Given the description of an element on the screen output the (x, y) to click on. 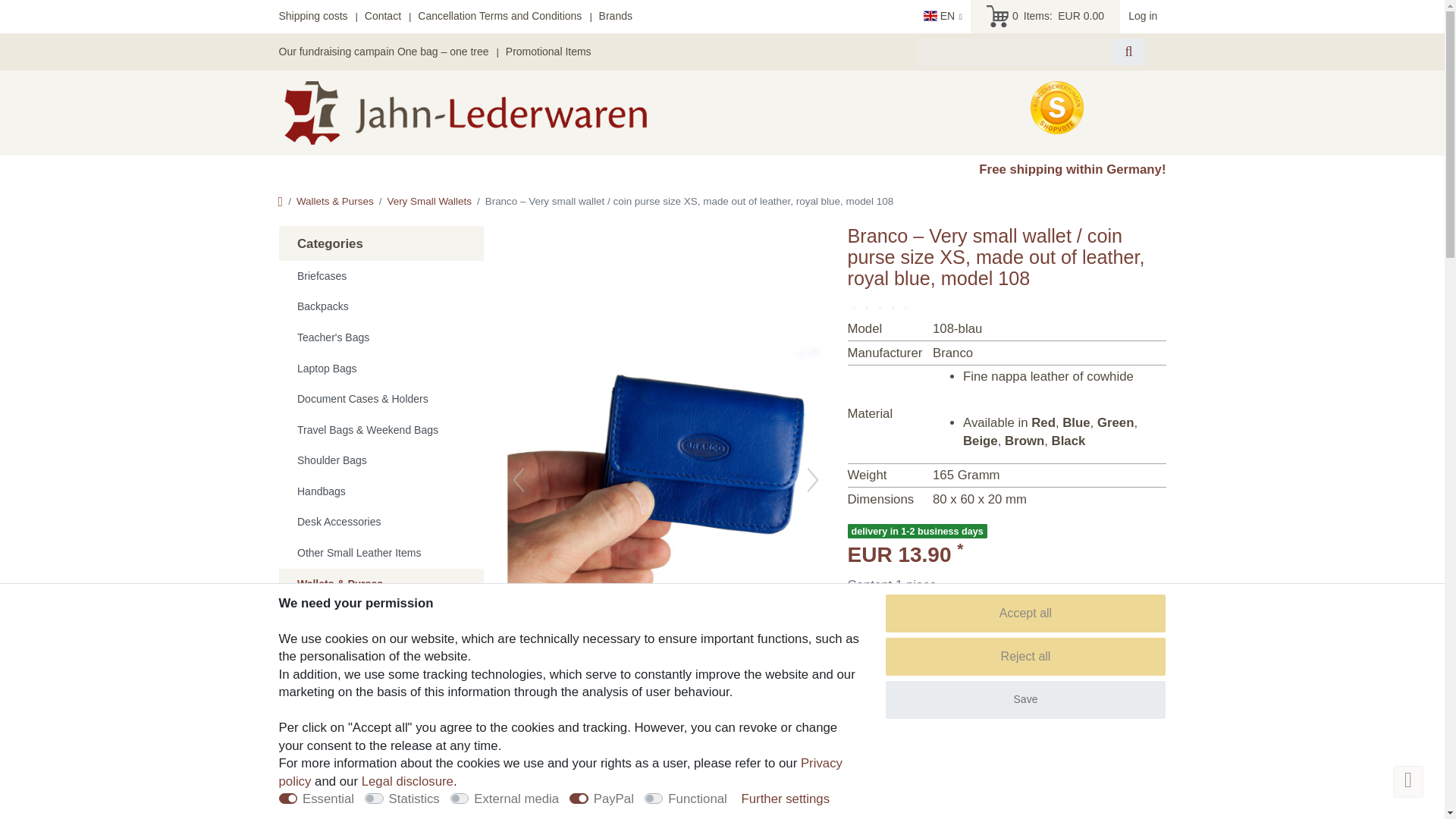
Laptop Bags (381, 368)
Contact (383, 15)
Promotional Items (548, 51)
Maximum order quantity:  (892, 638)
Very Small Wallets (381, 676)
Handbags (381, 490)
Teacher's Bags (381, 337)
Shipping (938, 611)
Shoulder Bags (381, 460)
Desk Accessories (381, 522)
Shipping costs (313, 15)
Very Small Wallets (429, 201)
Backpacks (381, 306)
0Items: EUR 0.00 (1045, 16)
Cancellation Terms and Conditions (498, 15)
